Given the description of an element on the screen output the (x, y) to click on. 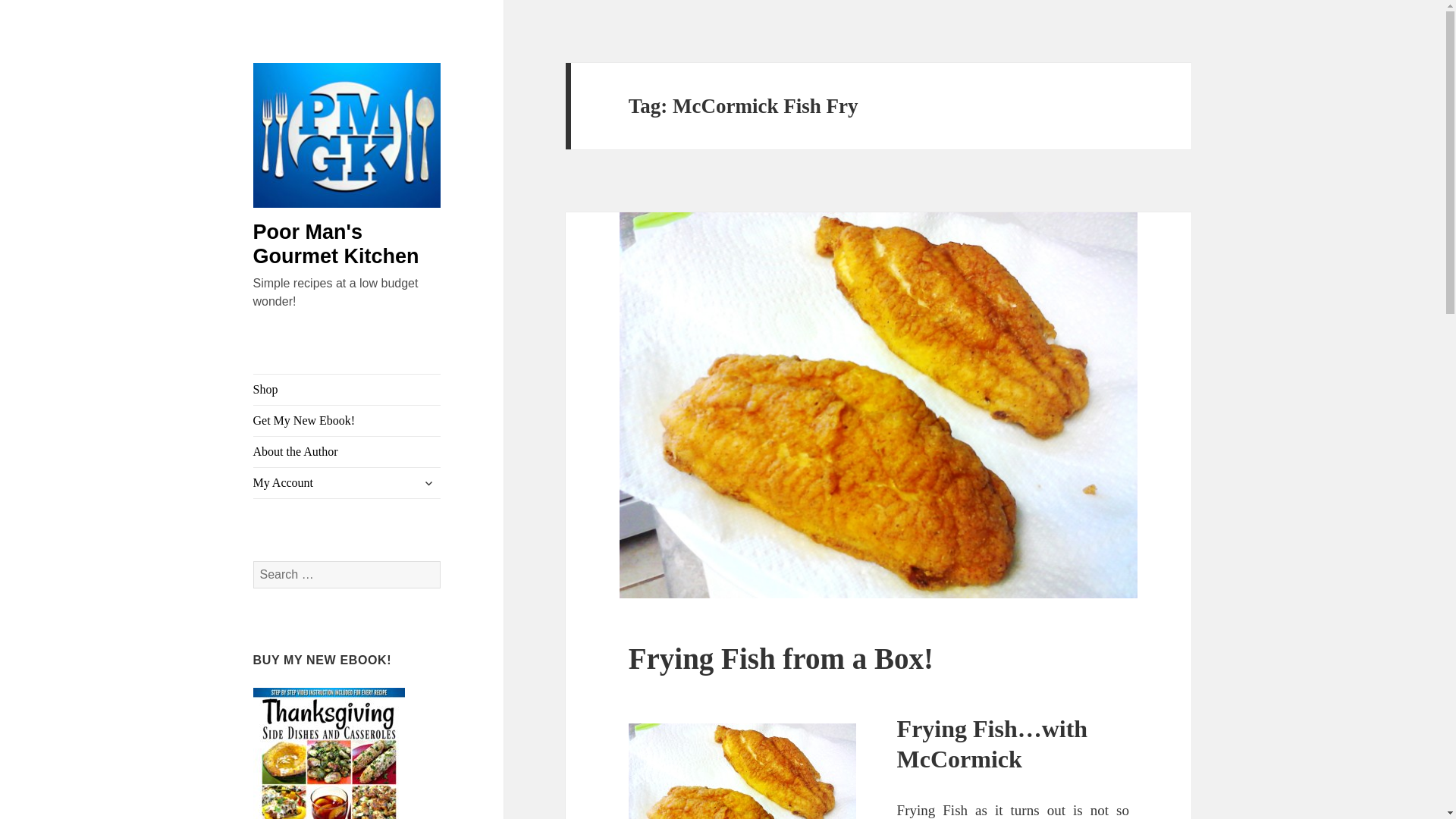
Get My New Ebook! (347, 420)
My Account (347, 482)
Poor Man's Gourmet Kitchen (336, 243)
expand child menu (428, 482)
Frying Fish from a Box! (780, 658)
About the Author (347, 451)
Shop (347, 389)
